Given the description of an element on the screen output the (x, y) to click on. 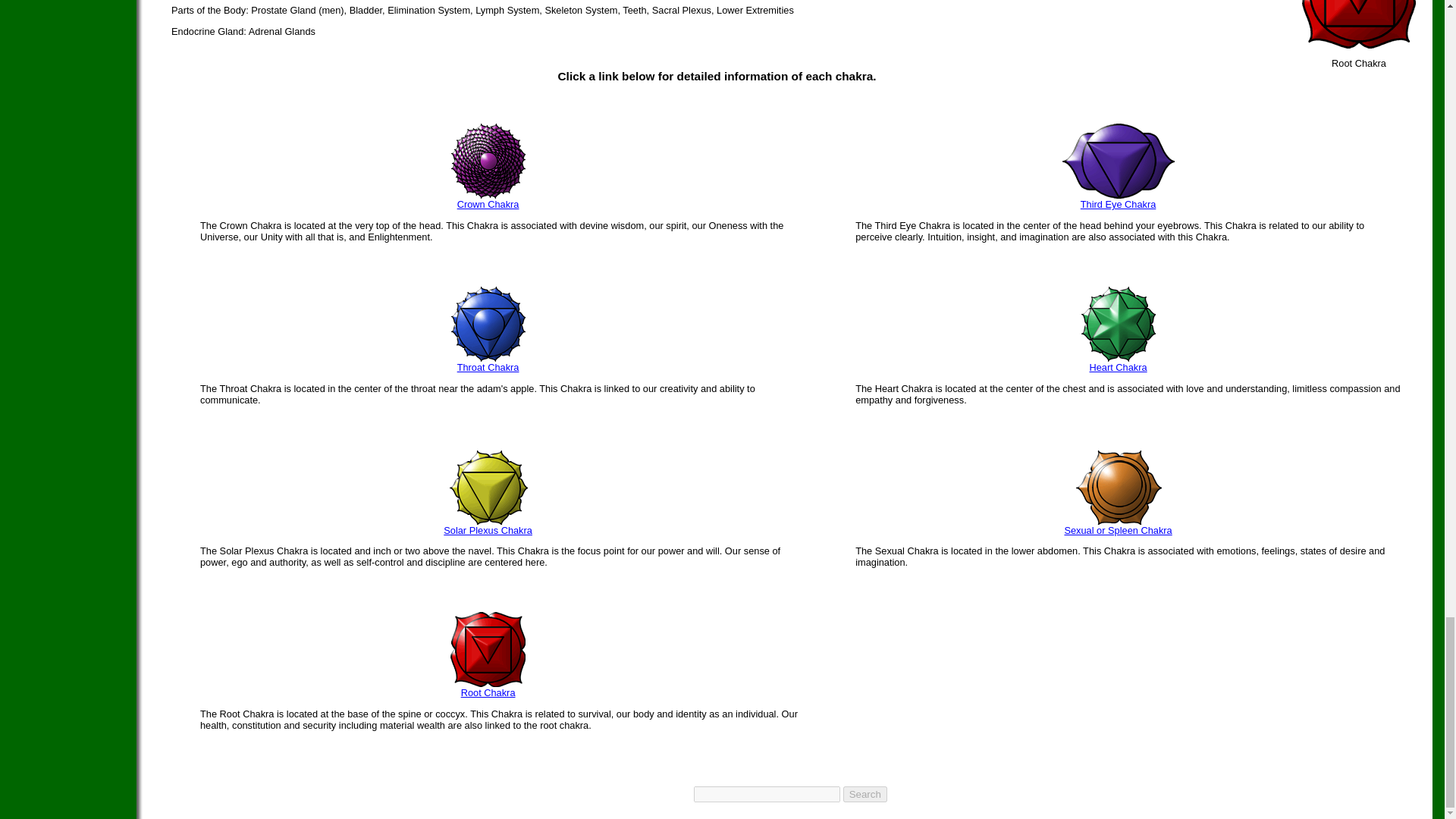
Crown Chakra (488, 204)
Search (864, 794)
Third Eye Chakra (1118, 204)
Throat Chakra (488, 367)
Root Chakra (1358, 44)
